Given the description of an element on the screen output the (x, y) to click on. 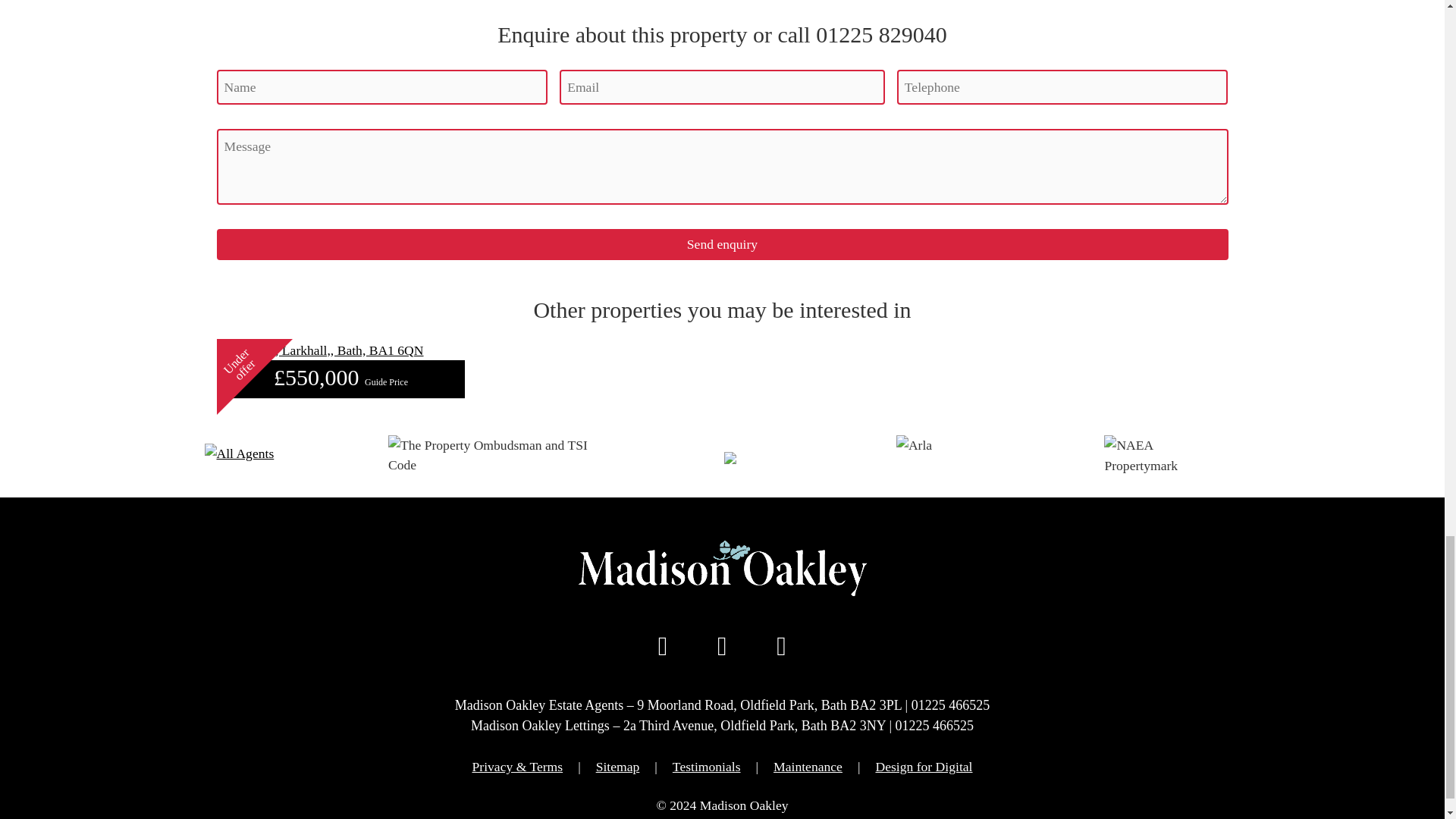
Send enquiry (722, 244)
Sitemap (617, 766)
Send enquiry (722, 244)
Madison Oakley on Facebook (662, 645)
Phone Madison Oakley (721, 645)
Testimonials (706, 766)
Madison Oakley on Envelope (781, 645)
